Given the description of an element on the screen output the (x, y) to click on. 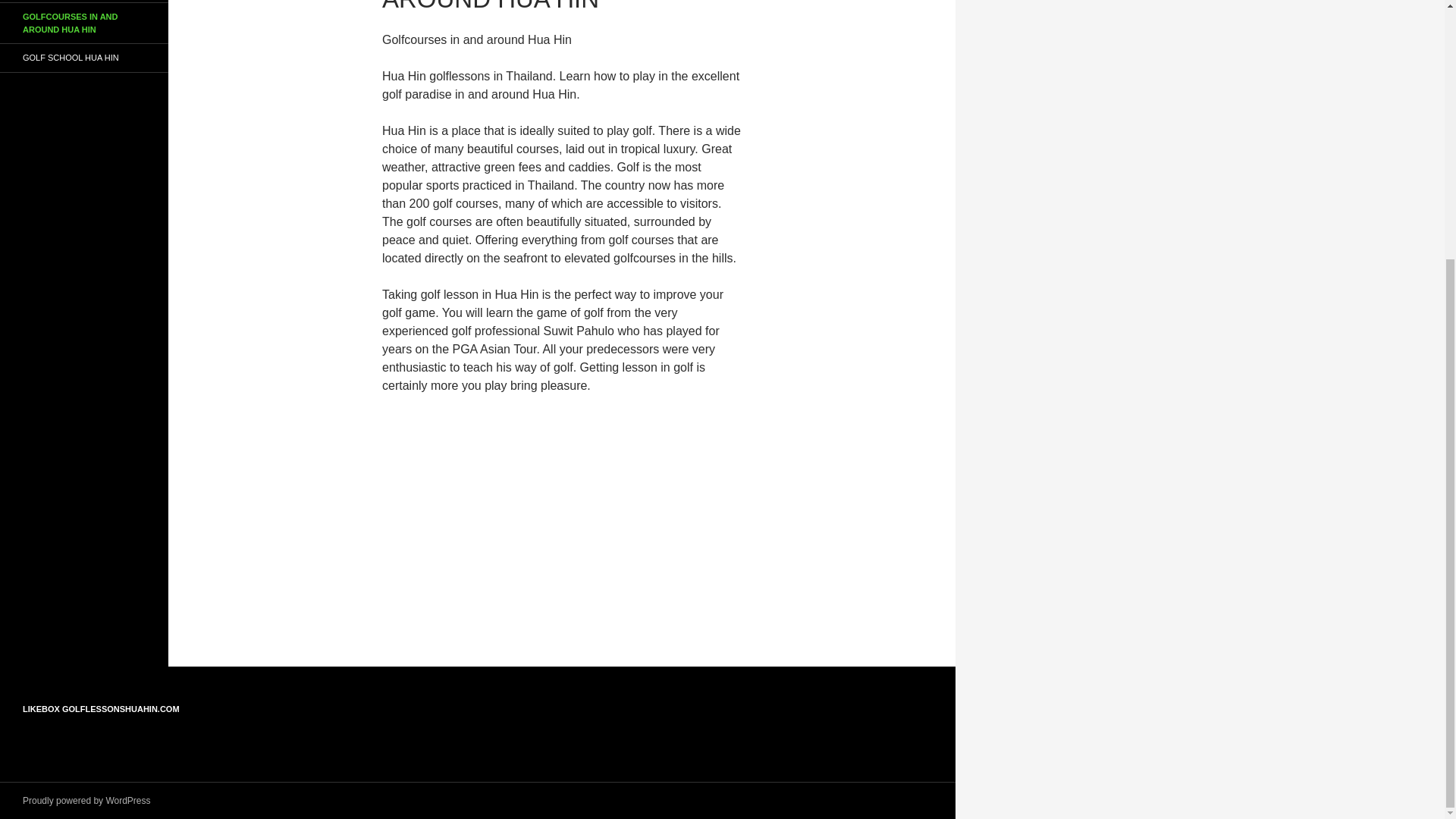
GOLF SCHOOL HUA HIN (84, 58)
CONTACT (84, 1)
Proudly powered by WordPress (87, 800)
GOLFCOURSES IN AND AROUND HUA HIN (84, 23)
